Given the description of an element on the screen output the (x, y) to click on. 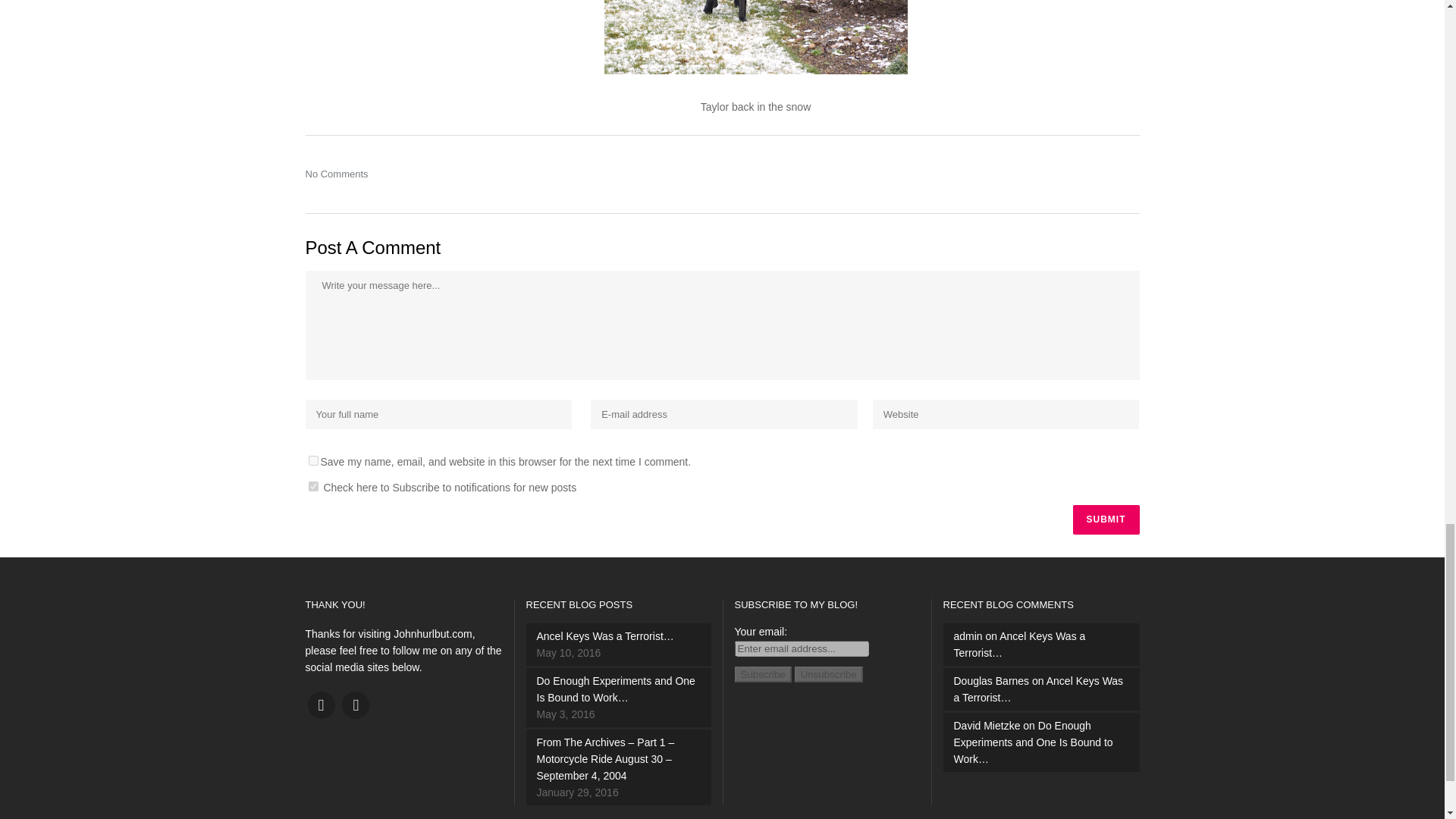
Subscribe (761, 674)
1 (312, 486)
Enter email address... (800, 648)
Submit (1104, 519)
David Mietzke (986, 725)
Subscribe (761, 674)
yes (312, 460)
Submit (1104, 519)
Unsubscribe (828, 674)
Unsubscribe (828, 674)
